Given the description of an element on the screen output the (x, y) to click on. 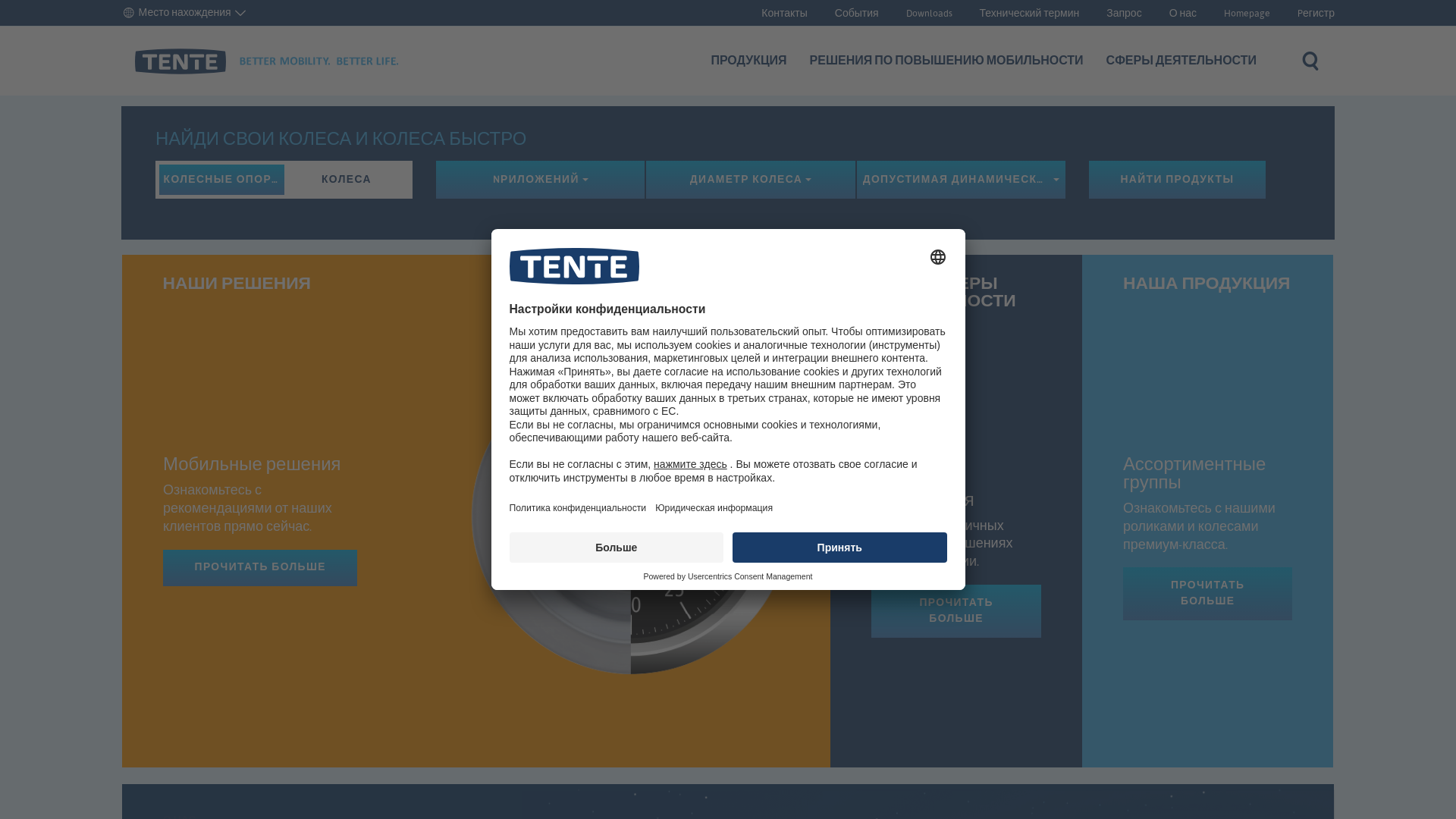
Downloads Element type: text (929, 13)
Homepage Element type: text (1246, 13)
solution-productivity Element type: hover (629, 497)
